Given the description of an element on the screen output the (x, y) to click on. 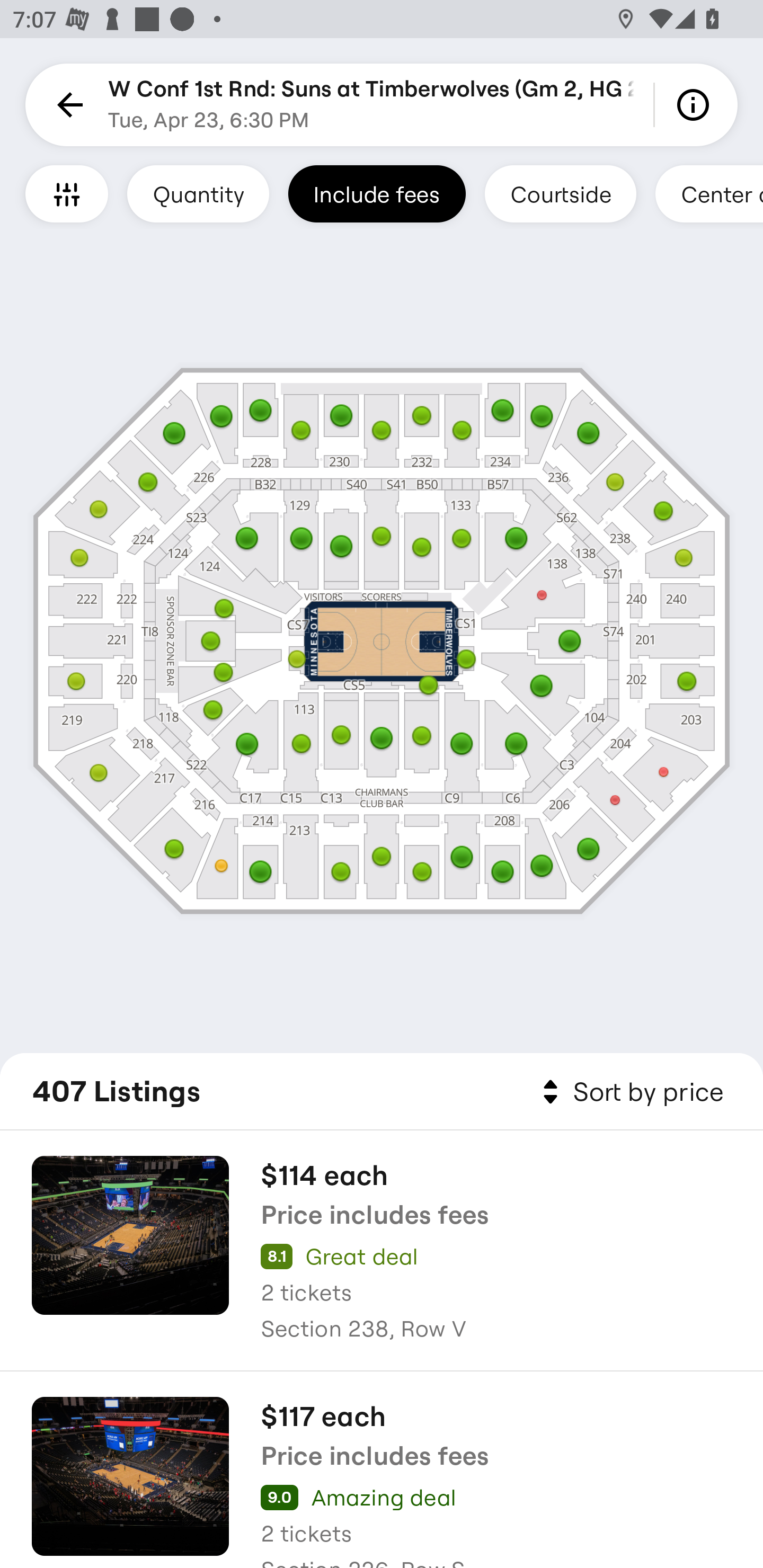
Back (66, 104)
Info (695, 104)
Filters and Accessible Seating (66, 193)
Quantity (198, 193)
Include fees (376, 193)
Courtside (560, 193)
Center court (709, 193)
Sort by price (629, 1091)
